Given the description of an element on the screen output the (x, y) to click on. 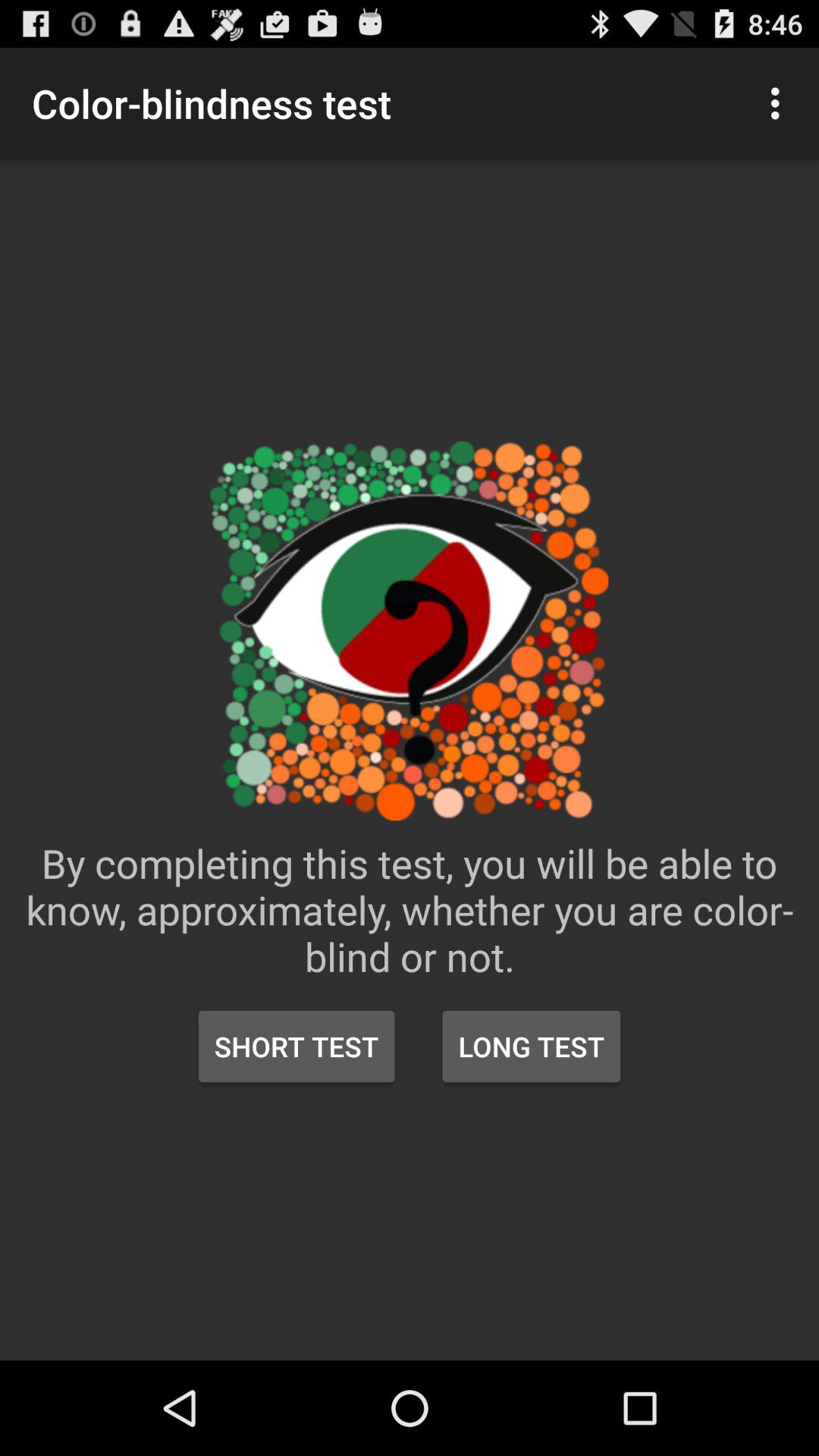
press short test button (296, 1046)
